Given the description of an element on the screen output the (x, y) to click on. 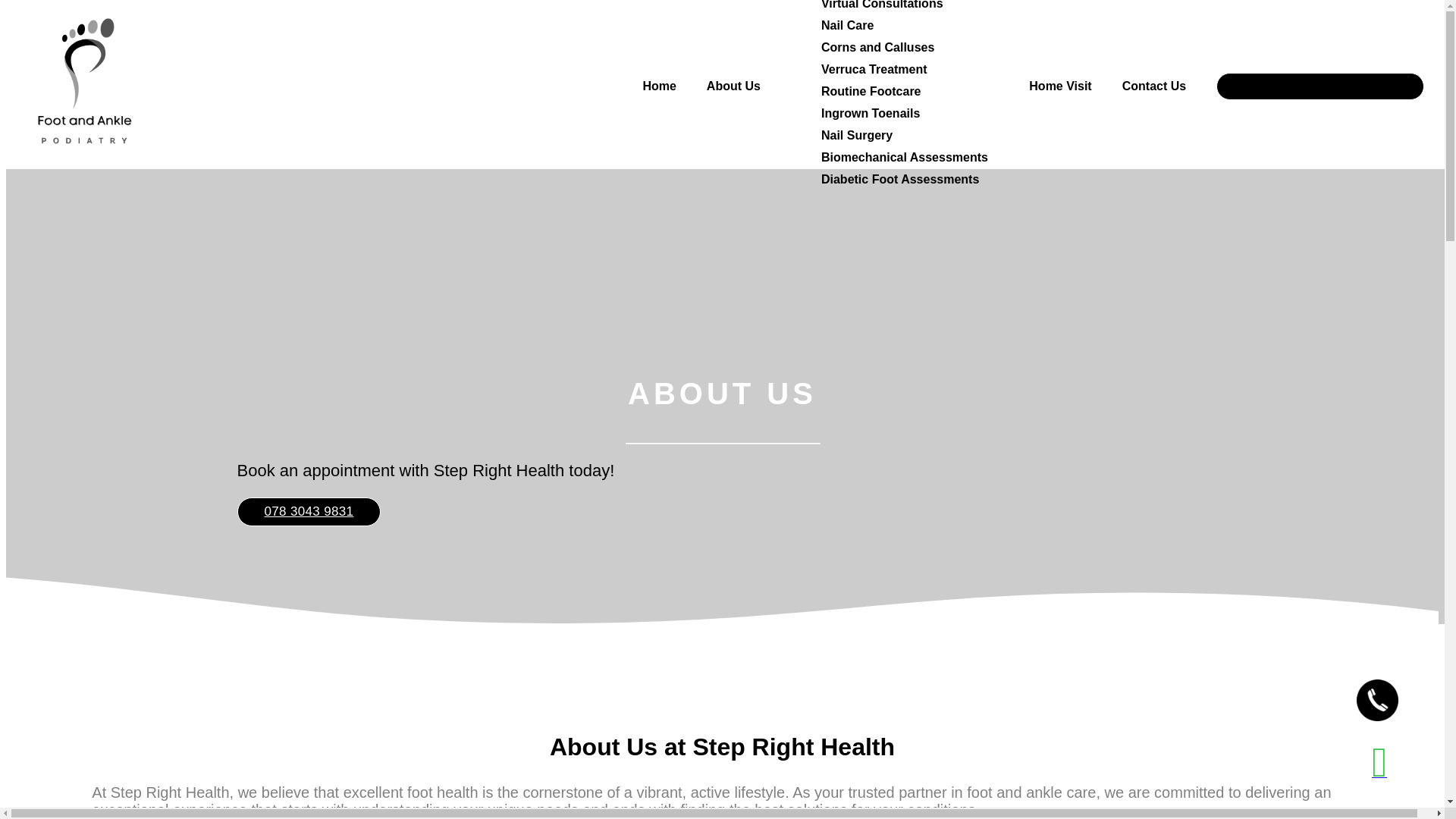
Contact Us (1154, 85)
Nail Care (847, 24)
Diabetic Foot Assessments (899, 178)
Verruca Treatment (874, 69)
About Us (733, 85)
Home Visit (1059, 85)
Biomechanical Assessments (904, 156)
Corns and Calluses (877, 47)
Virtual Consultations (882, 4)
078 3043 9831 (307, 511)
